Given the description of an element on the screen output the (x, y) to click on. 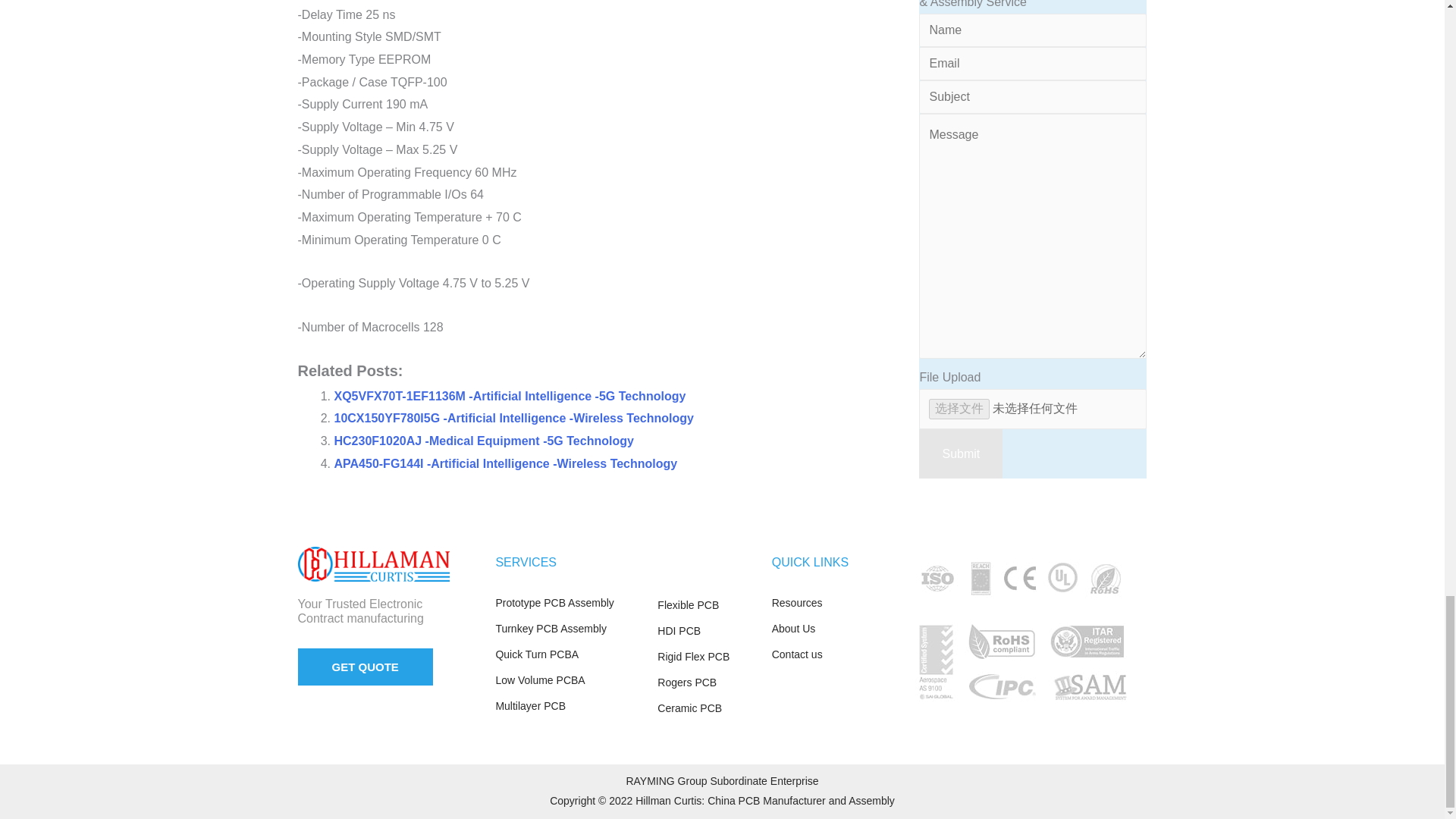
APA450-FG144I -Artificial Intelligence -Wireless Technology (505, 463)
Prototype PCB Assembly (568, 603)
Low Volume PCBA (568, 680)
Flexible PCB (706, 605)
GET QUOTE (364, 666)
Turnkey PCB Assembly (568, 629)
APA450-FG144I -Artificial Intelligence -Wireless Technology (505, 463)
HC230F1020AJ -Medical Equipment -5G Technology (483, 440)
Multilayer PCB (568, 706)
Quick Turn PCBA (568, 655)
HC230F1020AJ -Medical Equipment -5G Technology (483, 440)
XQ5VFX70T-1EF1136M -Artificial Intelligence -5G Technology (509, 395)
XQ5VFX70T-1EF1136M -Artificial Intelligence -5G Technology (509, 395)
